Given the description of an element on the screen output the (x, y) to click on. 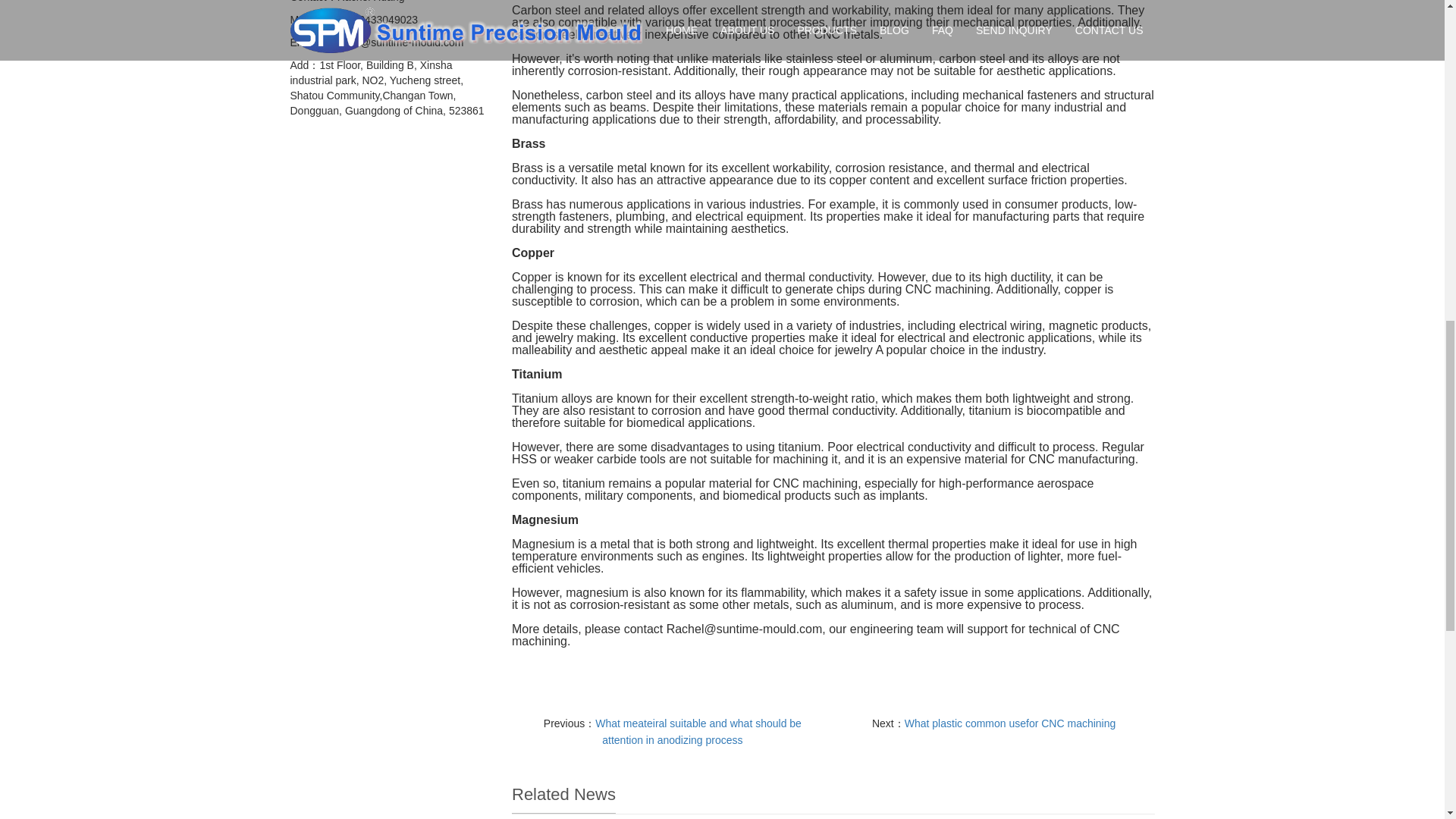
What plastic common usefor CNC machining (1010, 723)
